Given the description of an element on the screen output the (x, y) to click on. 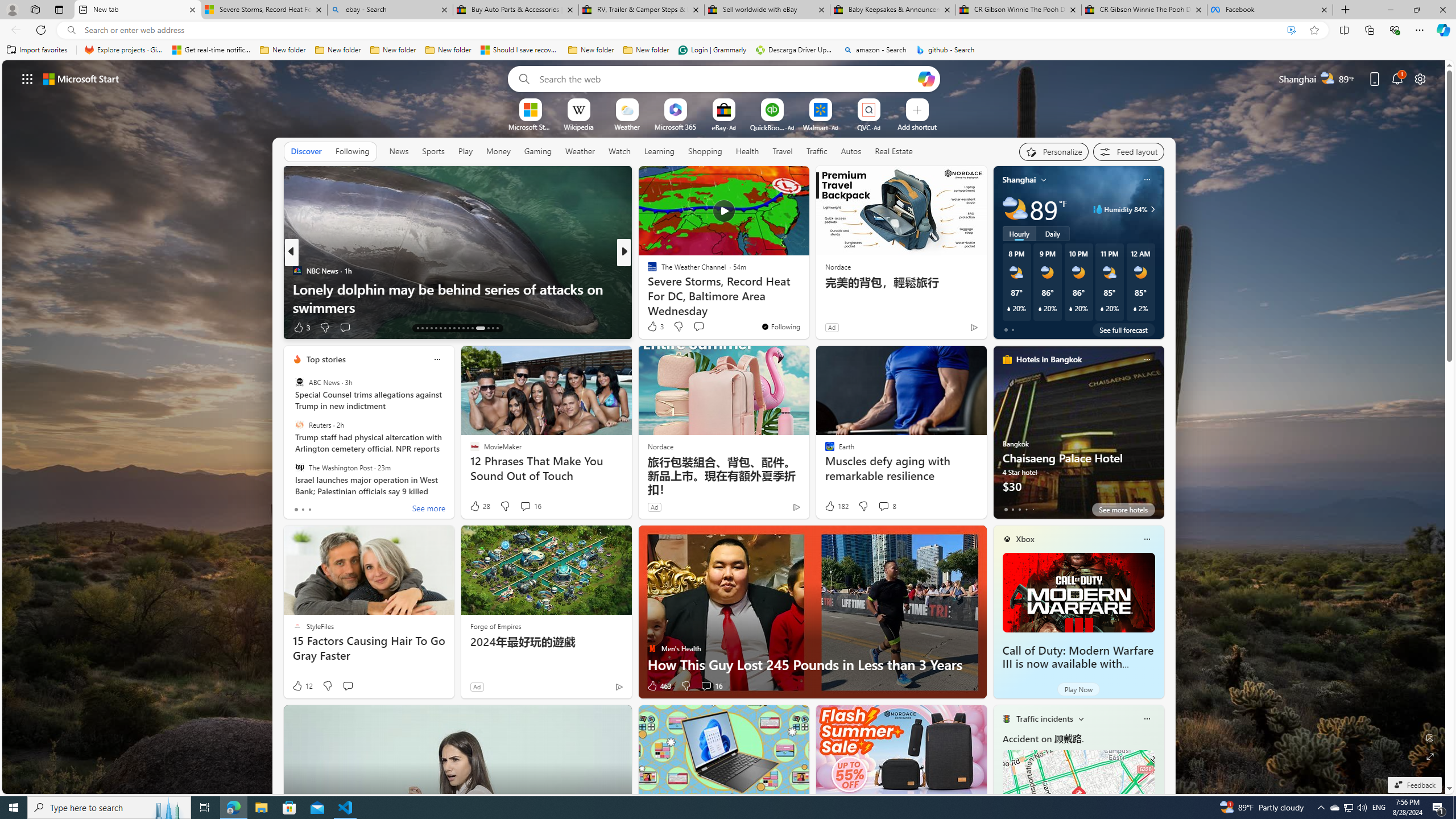
Shopping (705, 151)
Humidity 84% (1150, 208)
hotels-header-icon (1006, 358)
Expand background (1430, 756)
Traffic incidents (1044, 718)
Wikipedia (578, 126)
Travel (782, 151)
See full forecast (1123, 329)
github - Search (945, 49)
